Given the description of an element on the screen output the (x, y) to click on. 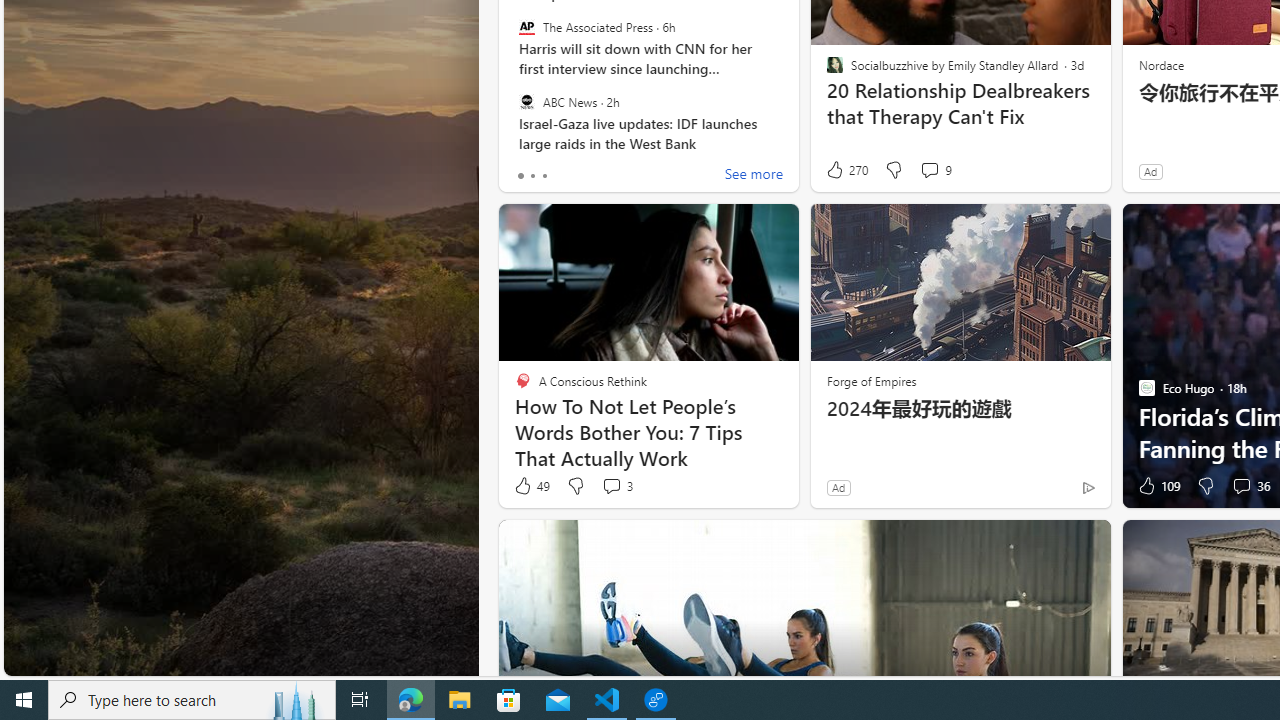
Dislike (1204, 485)
Ad Choice (1087, 487)
See more (753, 175)
View comments 9 Comment (929, 169)
tab-0 (520, 175)
Nordace (1160, 64)
ABC News (526, 101)
